Given the description of an element on the screen output the (x, y) to click on. 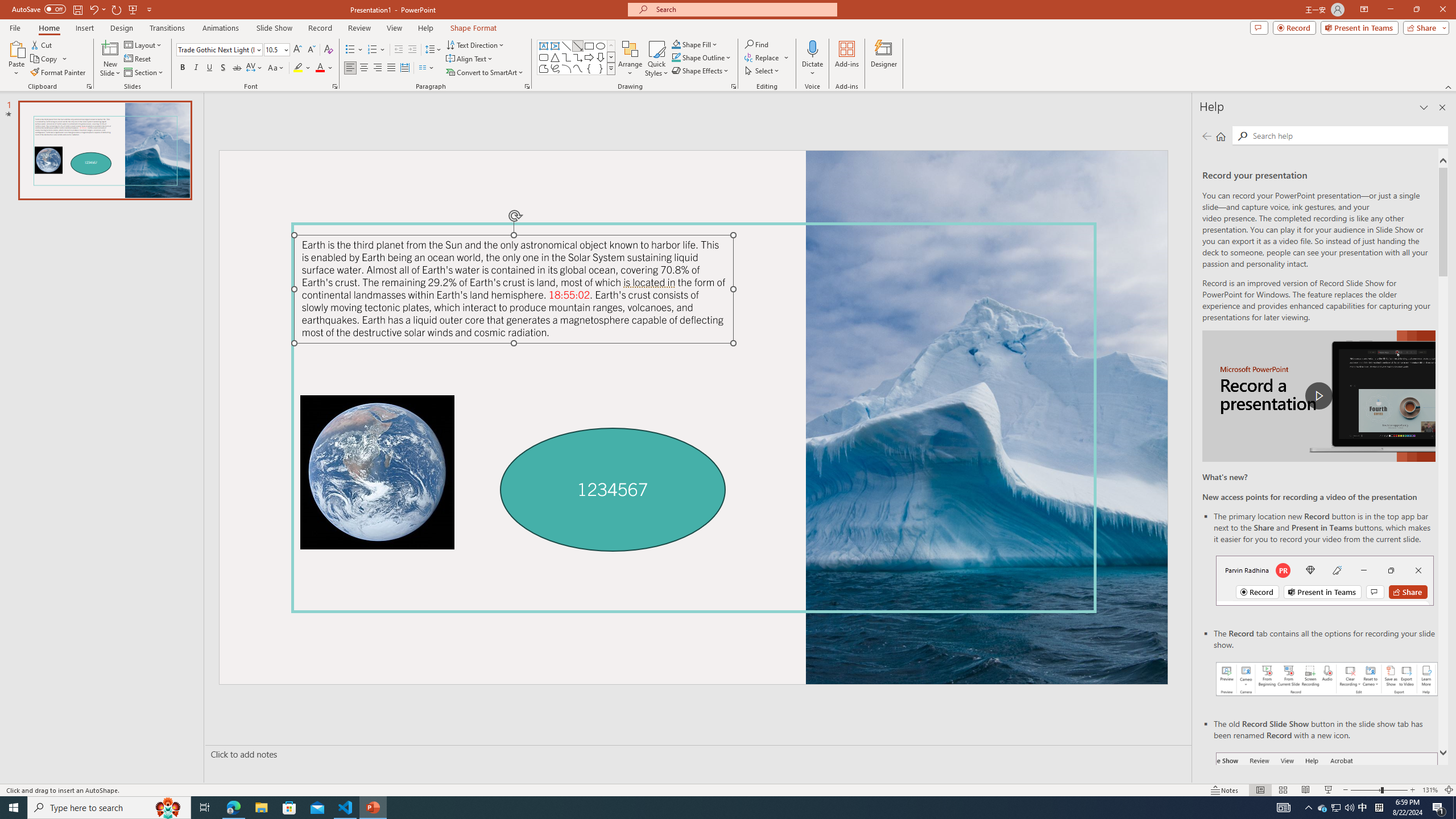
Zoom 131% (1430, 790)
